Given the description of an element on the screen output the (x, y) to click on. 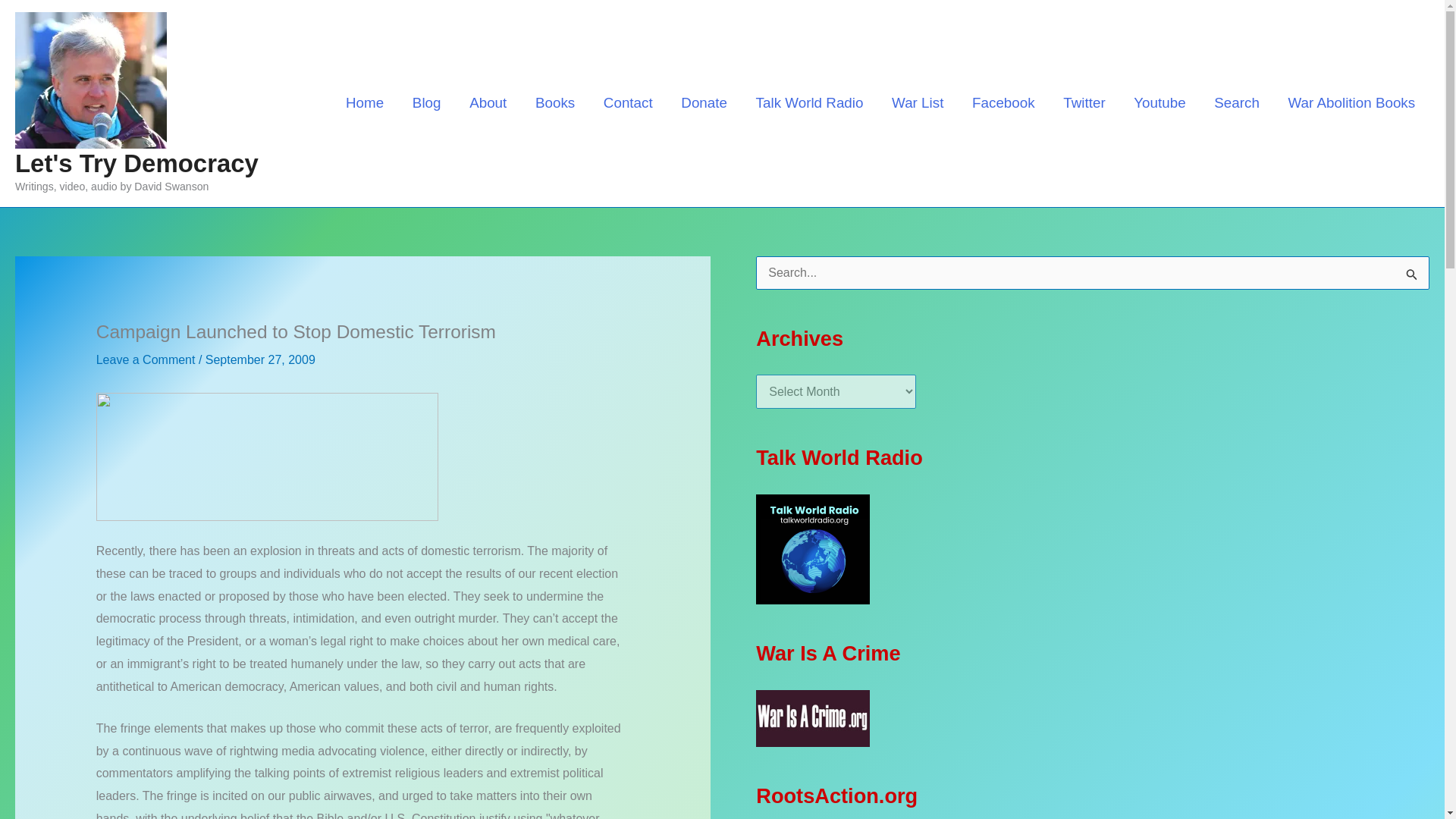
Donate (703, 102)
Home (364, 102)
War Abolition Books (1351, 102)
Blog (425, 102)
Contact (627, 102)
War List (917, 102)
Leave a Comment (145, 359)
About (487, 102)
Facebook (1003, 102)
Search (1235, 102)
